Given the description of an element on the screen output the (x, y) to click on. 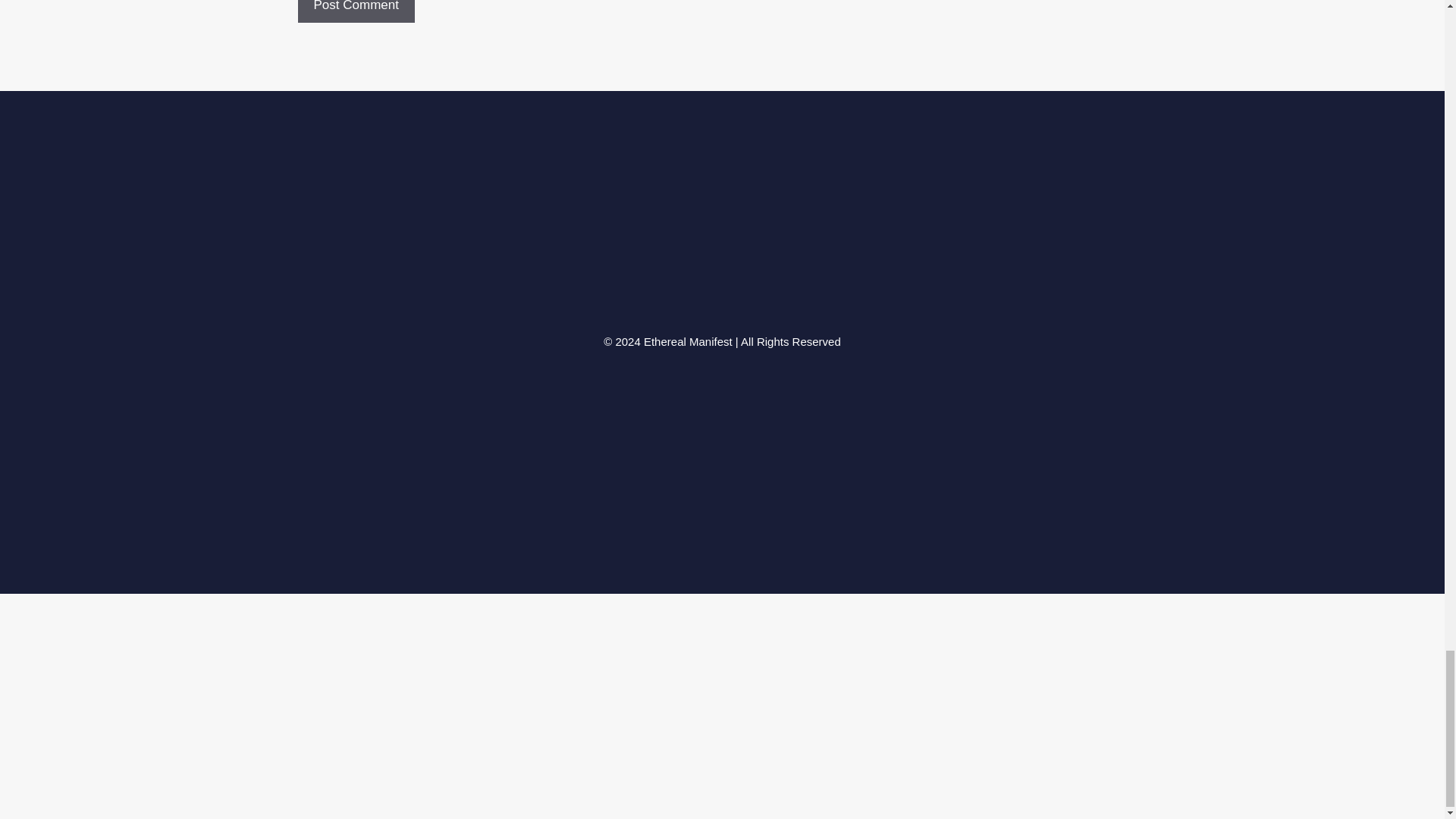
Post Comment (355, 11)
